Given the description of an element on the screen output the (x, y) to click on. 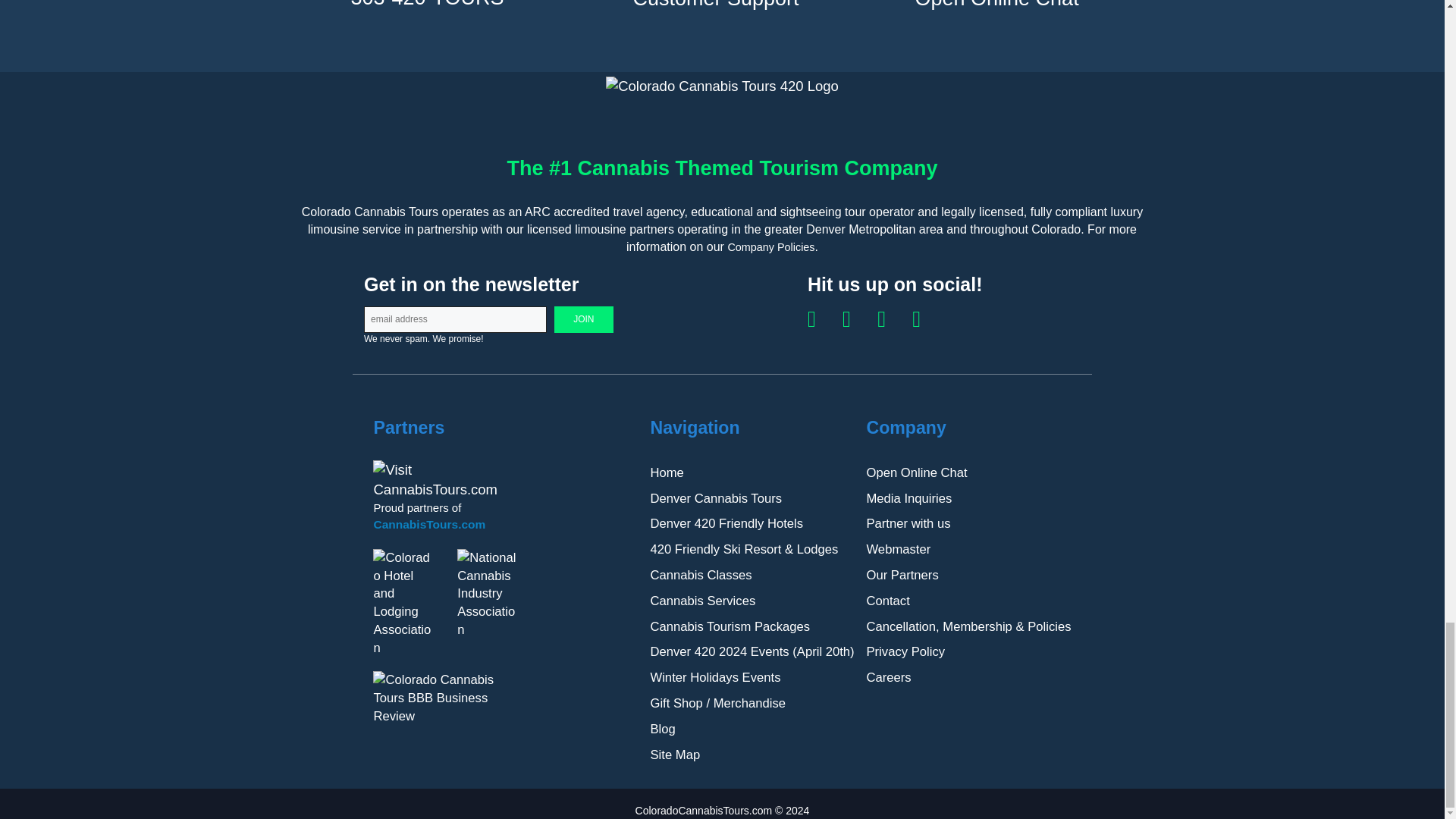
click to chat with an agent (996, 4)
Call Us 24 Hours A Day (426, 4)
JOIN (583, 319)
